Given the description of an element on the screen output the (x, y) to click on. 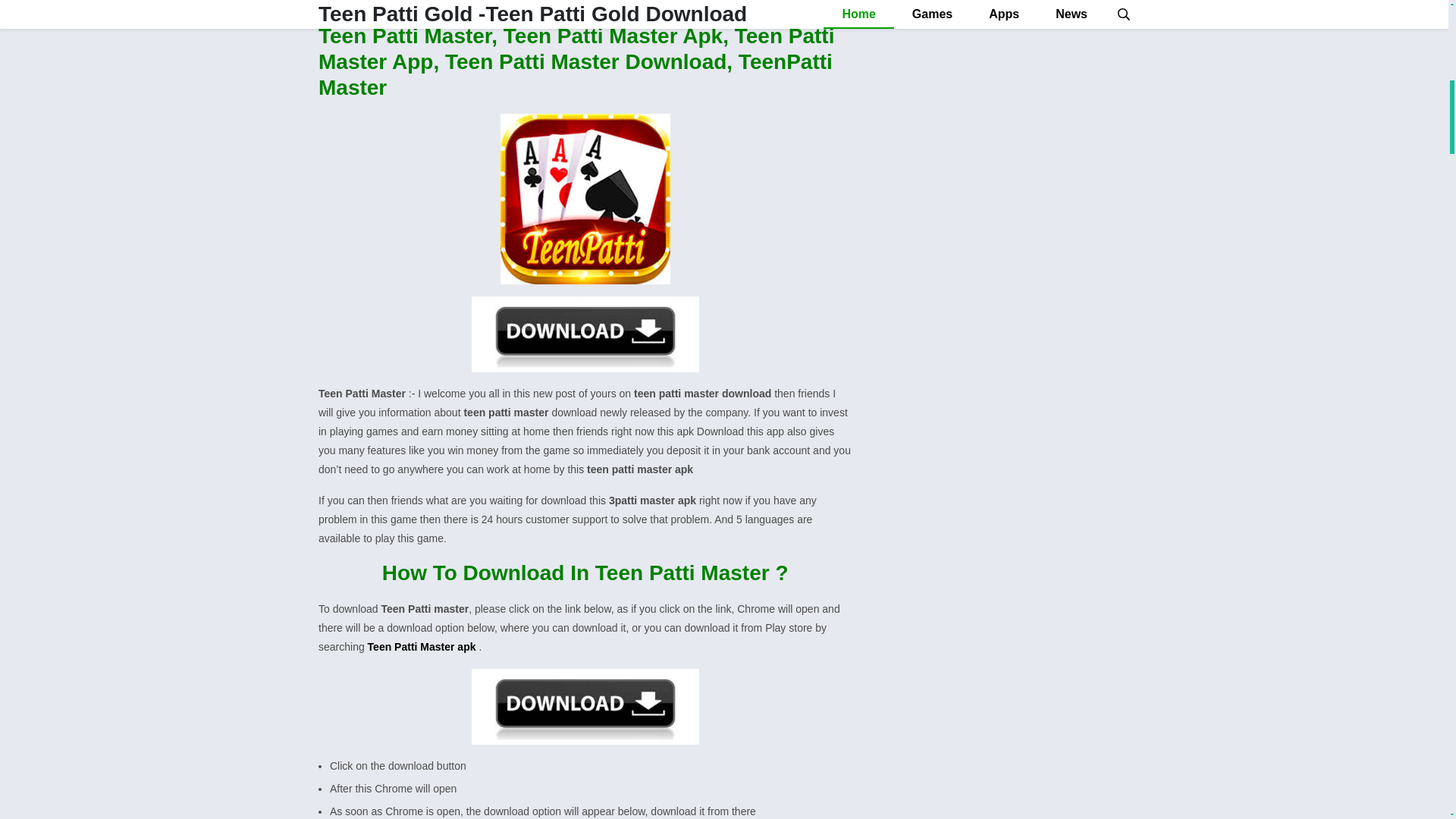
Teen Patti Master apk (422, 646)
11 FAQs In Teen Patti Master (392, 0)
